Given the description of an element on the screen output the (x, y) to click on. 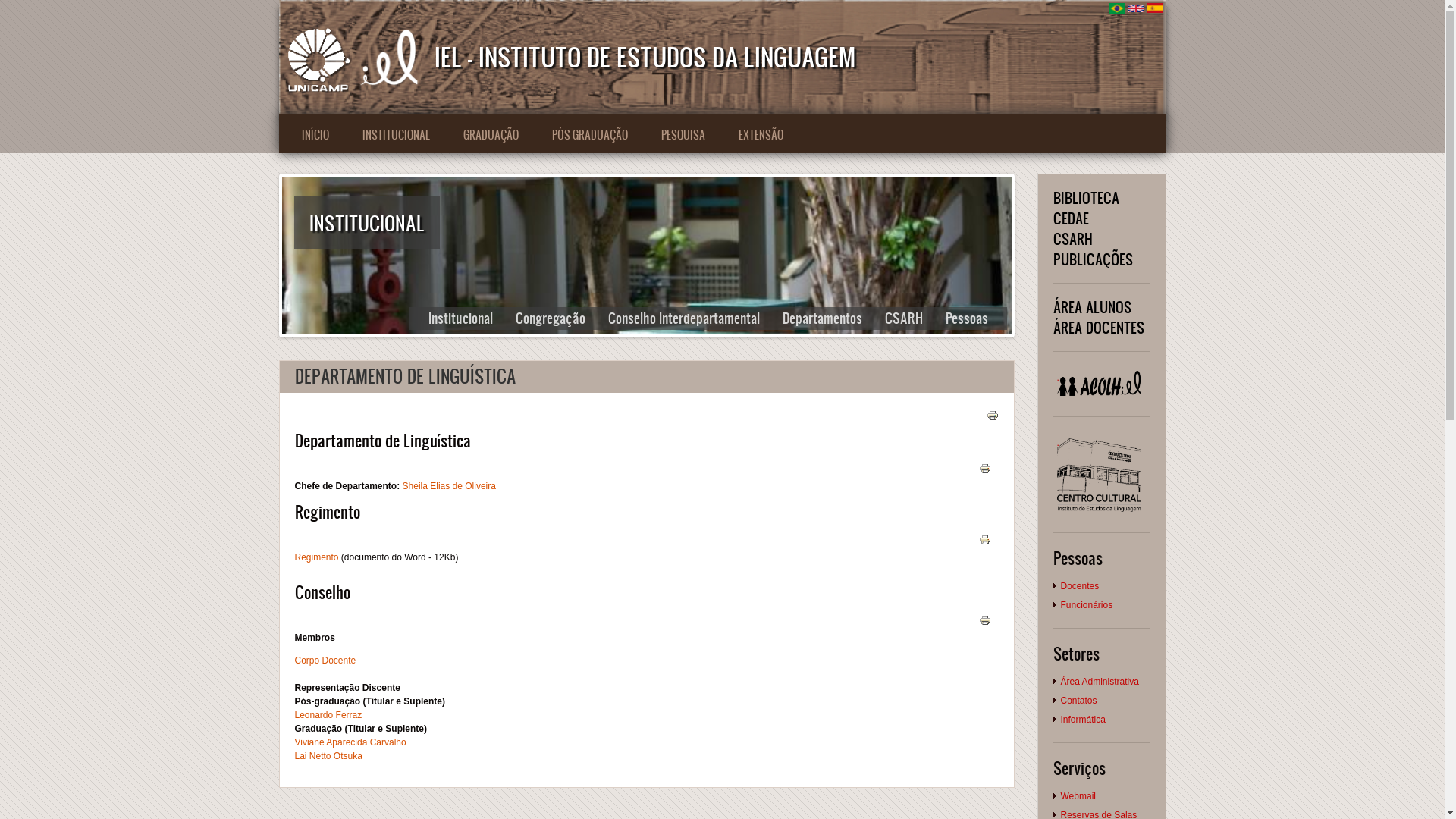
. Element type: text (1099, 382)
PESQUISA Element type: text (683, 134)
Contatos Element type: text (1078, 700)
CEDAE Element type: text (1070, 218)
IEL - INSTITUTO DE ESTUDOS DA LINGUAGEM Element type: text (643, 56)
English Element type: hover (1135, 8)
Lai Netto Otsuka Element type: text (327, 755)
Corpo Docente Element type: text (324, 660)
Pessoas Element type: text (970, 318)
Display a printer-friendly version of this page. Element type: hover (985, 619)
Sheila Elias de Oliveira Element type: text (448, 485)
Institucional Element type: text (464, 318)
Docentes Element type: text (1079, 585)
Conselho Interdepartamental Element type: text (686, 318)
CSARH Element type: text (907, 318)
Departamentos Element type: text (825, 318)
Display a printer-friendly version of this page. Element type: hover (991, 414)
CSARH Element type: text (1072, 238)
Leonardo Ferraz Element type: text (327, 714)
INSTITUCIONAL Element type: text (396, 134)
https://www.iel.unicamp.br Element type: hover (388, 56)
Display a printer-friendly version of this page. Element type: hover (985, 538)
Display a printer-friendly version of this page. Element type: hover (985, 467)
Regimento Element type: text (316, 557)
. Element type: text (1099, 473)
Viviane Aparecida Carvalho Element type: text (349, 742)
Webmail Element type: text (1077, 795)
BIBLIOTECA Element type: text (1085, 197)
http://www.unicamp.br Element type: hover (316, 56)
